Given the description of an element on the screen output the (x, y) to click on. 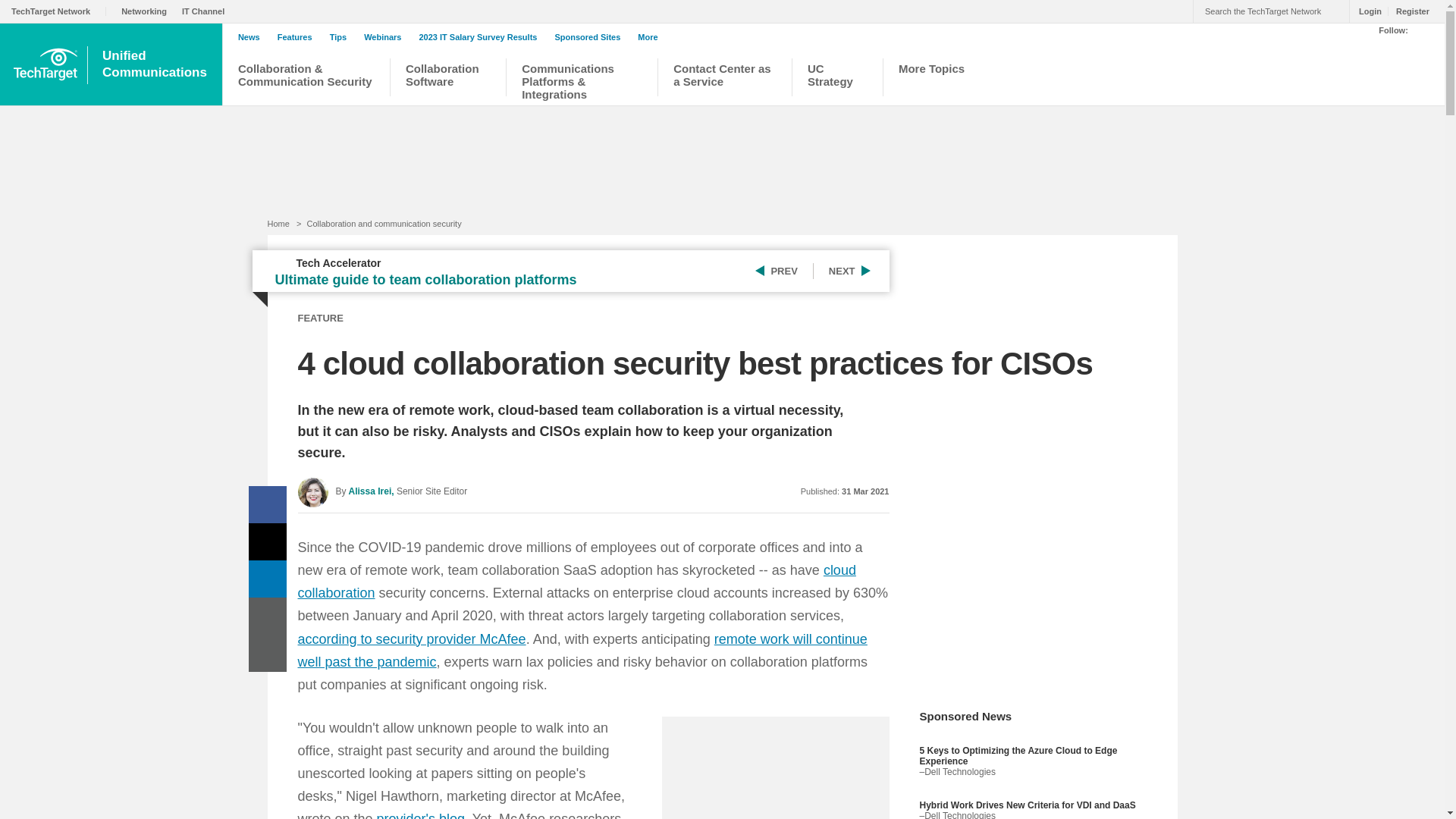
Collaboration Software (448, 79)
News (252, 36)
Contact Center as a Service (724, 79)
UC Strategy (837, 79)
Features (299, 36)
Login (1366, 10)
Share on Facebook (267, 504)
IT Channel (206, 10)
Email a Friend (267, 652)
TechTarget Network (58, 10)
2023 IT Salary Survey Results (481, 36)
Print This Page (267, 615)
More Topics (939, 79)
Register (1408, 10)
More (651, 36)
